Given the description of an element on the screen output the (x, y) to click on. 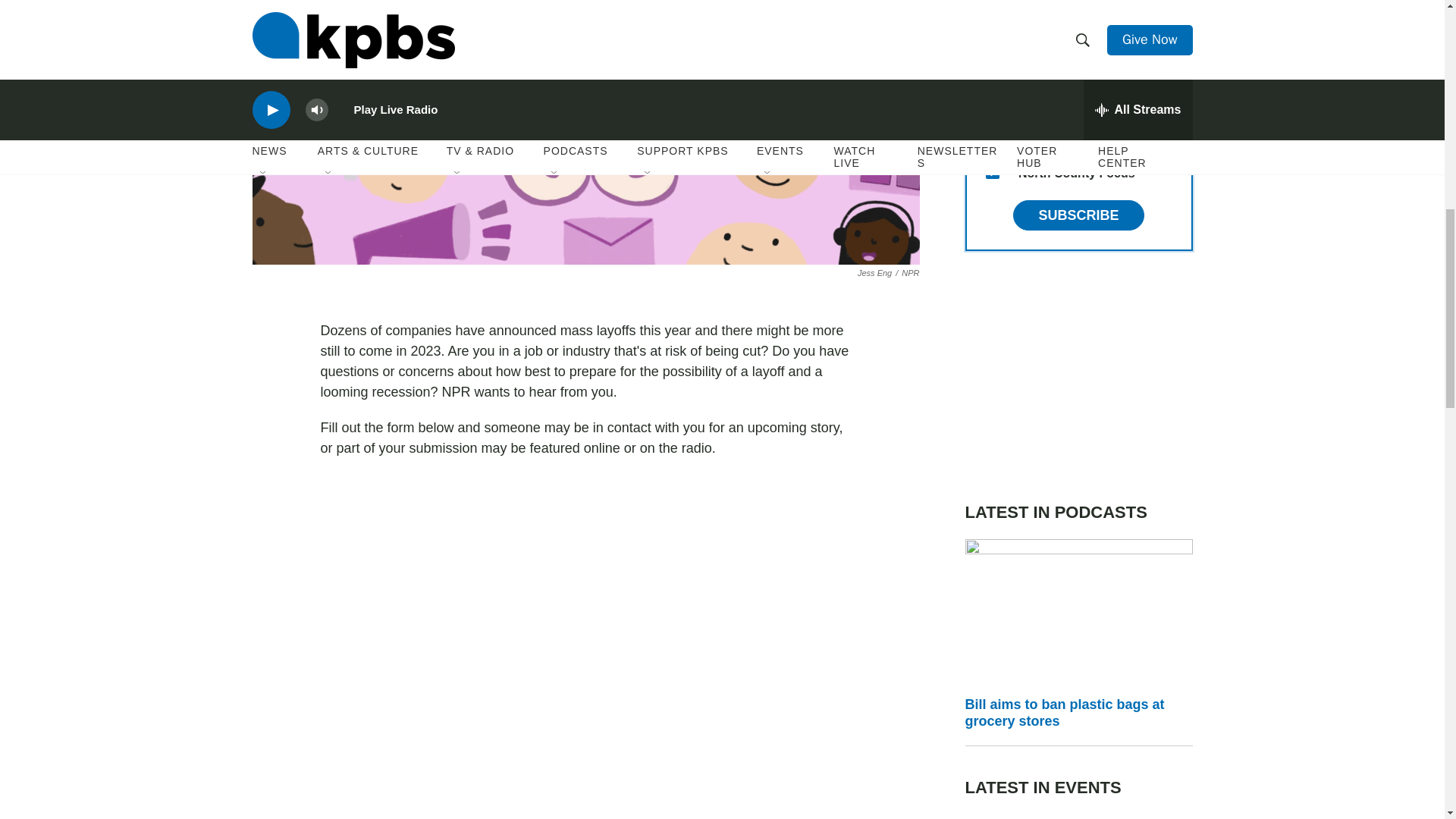
15 (991, 172)
2 (991, 62)
8 (991, 135)
1 (991, 99)
6 (991, 26)
